Given the description of an element on the screen output the (x, y) to click on. 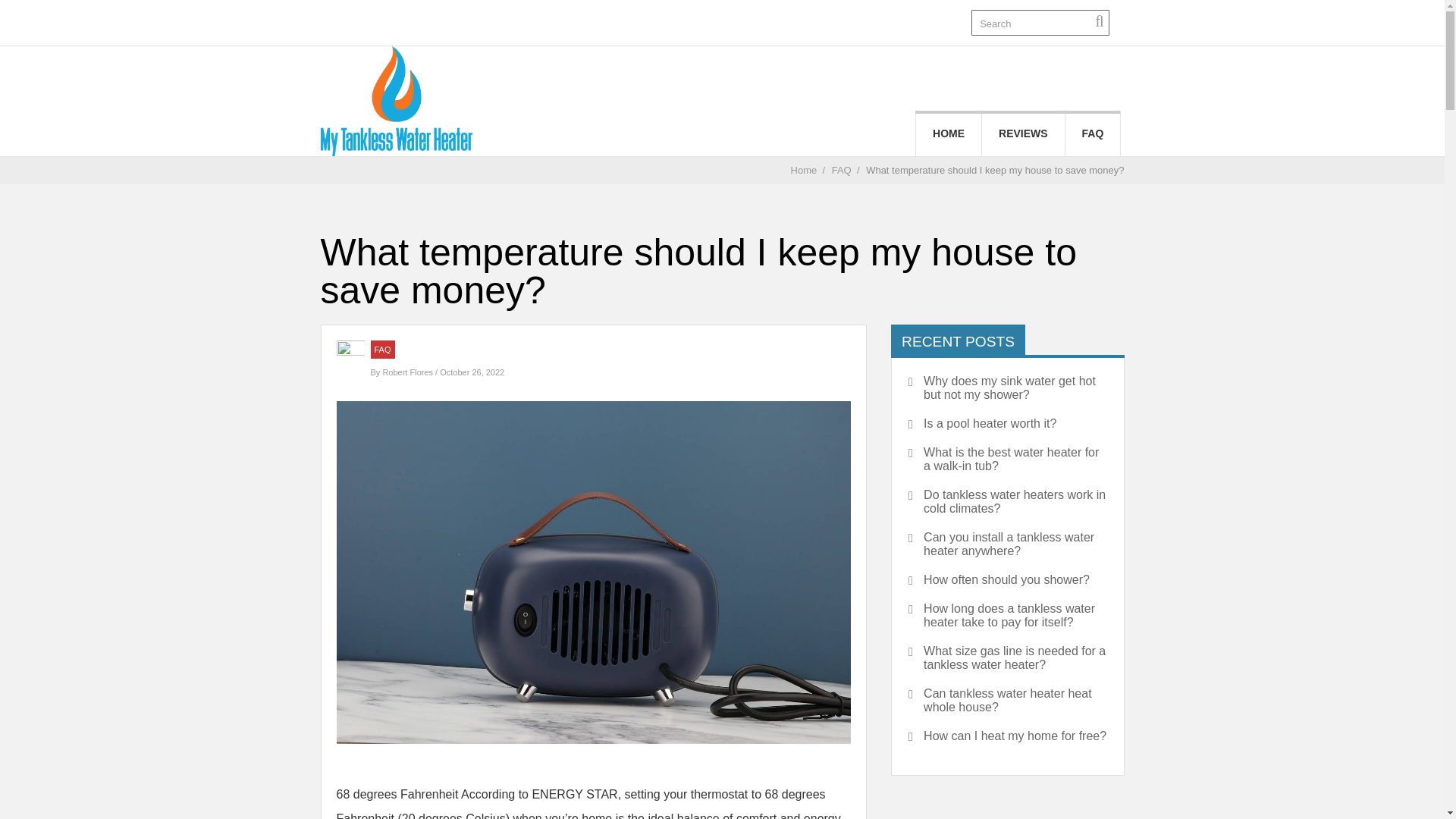
FAQ (382, 348)
Robert Flores (408, 371)
HOME (948, 133)
FAQ (1093, 133)
REVIEWS (1022, 133)
